Given the description of an element on the screen output the (x, y) to click on. 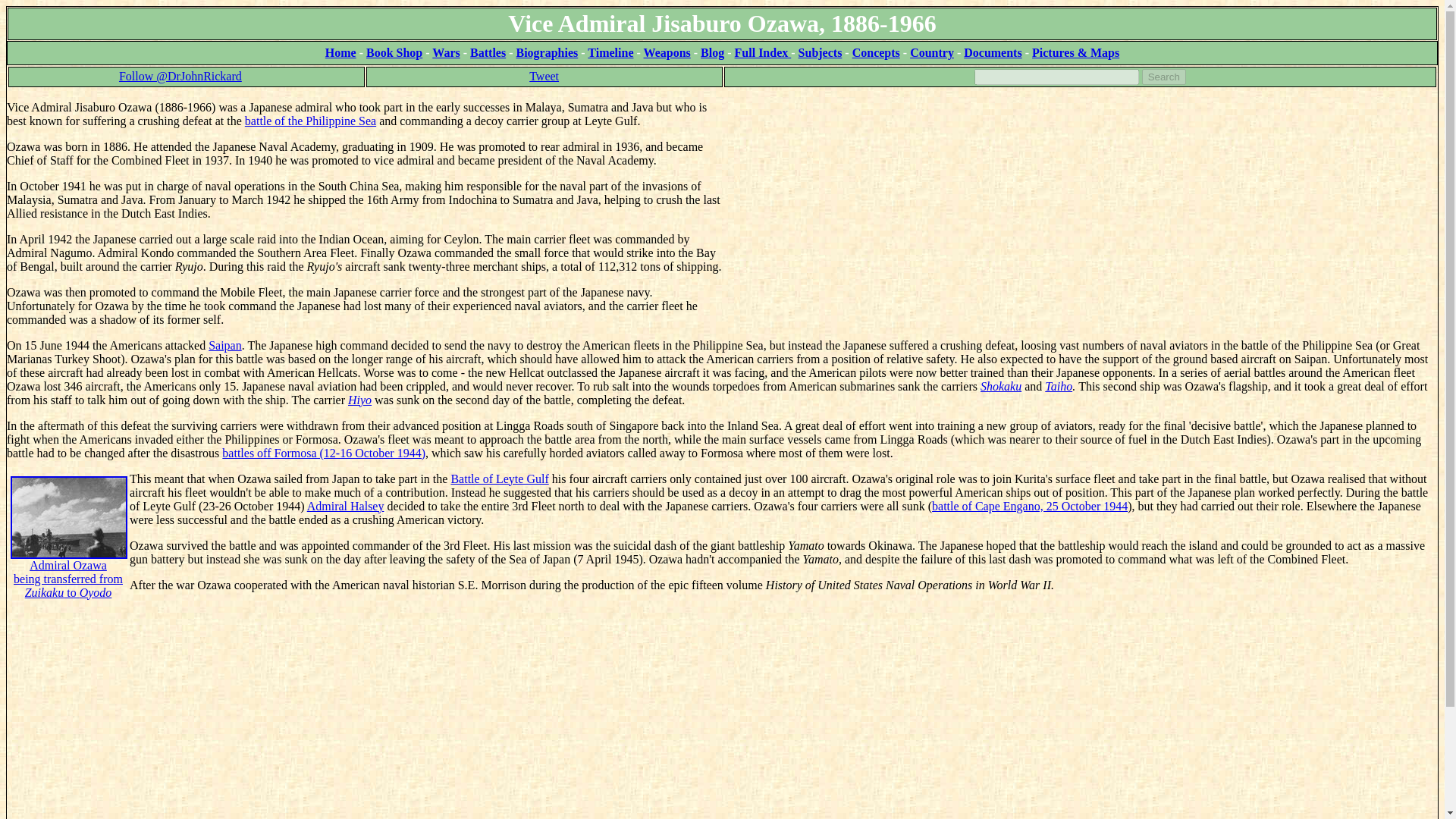
Timeline of Military History (610, 51)
Link to our discussion forum (1075, 51)
Hiyo (359, 399)
Index of biographies (546, 51)
Concepts (875, 51)
Book Shop (69, 553)
Battles (394, 51)
Our Military History Bookshop (487, 51)
Index of articles on Battles (394, 51)
Shokaku (487, 51)
Admiral Ozawa being transferred from Zuikaku to Oyodo  (1000, 386)
Battle of Leyte Gulf (69, 553)
Main Index of articles (498, 478)
Wars (763, 51)
